Given the description of an element on the screen output the (x, y) to click on. 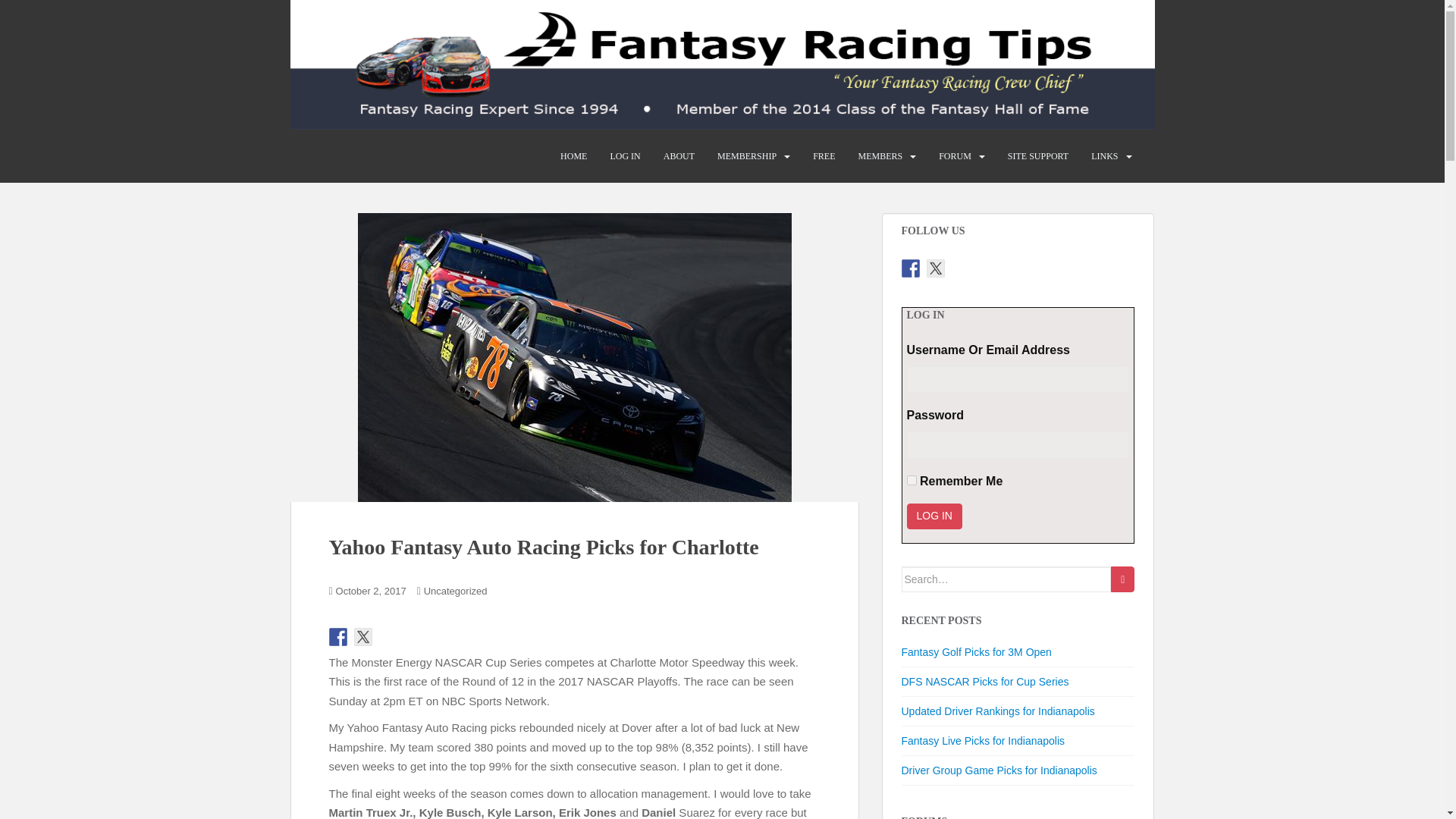
FORUM (955, 155)
MEMBERS (879, 155)
Follow us on Facebook (909, 268)
Follow us on Twitter (935, 268)
MEMBERSHIP (746, 155)
Follow us on Twitter (362, 637)
Uncategorized (455, 591)
LOG IN (625, 155)
Follow us on Facebook (338, 637)
Search for: (1005, 579)
October 2, 2017 (371, 591)
forever (912, 480)
SITE SUPPORT (1037, 155)
ABOUT (678, 155)
